Given the description of an element on the screen output the (x, y) to click on. 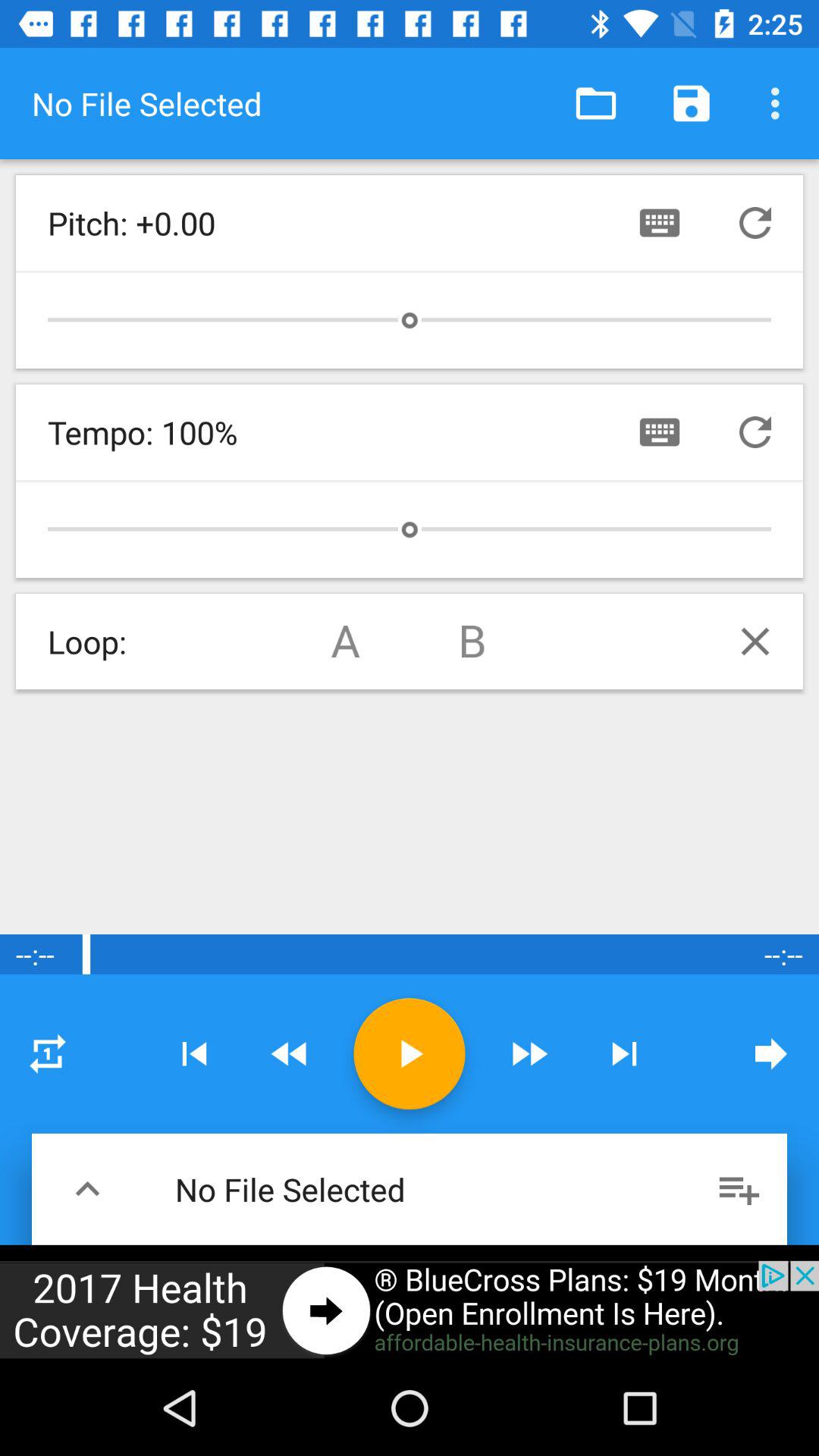
contact botton (659, 222)
